Given the description of an element on the screen output the (x, y) to click on. 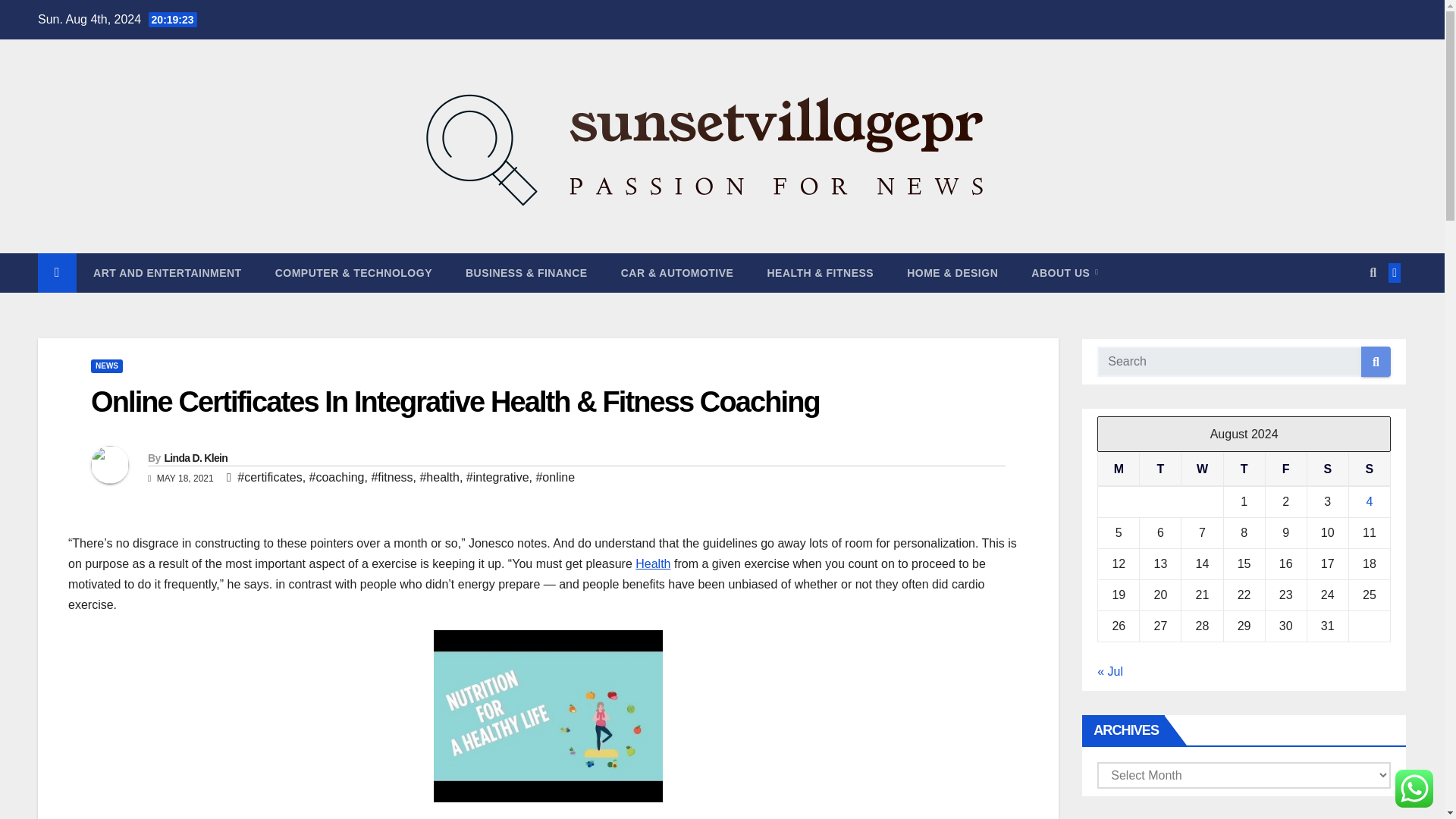
Art And Entertainment (168, 272)
About Us (1064, 272)
ABOUT US (1064, 272)
ART AND ENTERTAINMENT (168, 272)
NEWS (106, 366)
Linda D. Klein (195, 458)
Health (651, 563)
